Given the description of an element on the screen output the (x, y) to click on. 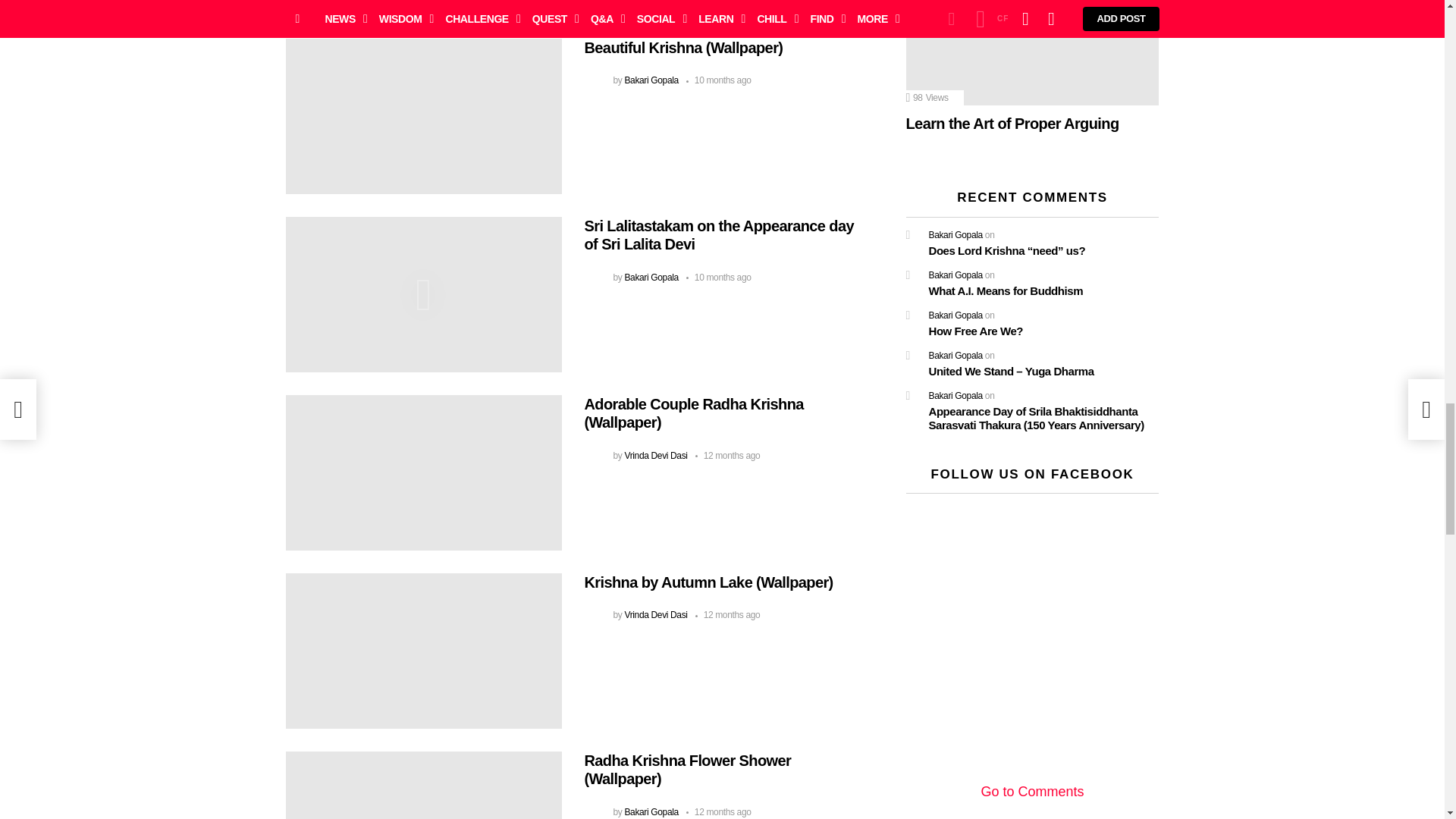
Posts by Bakari Gopala (651, 80)
